Given the description of an element on the screen output the (x, y) to click on. 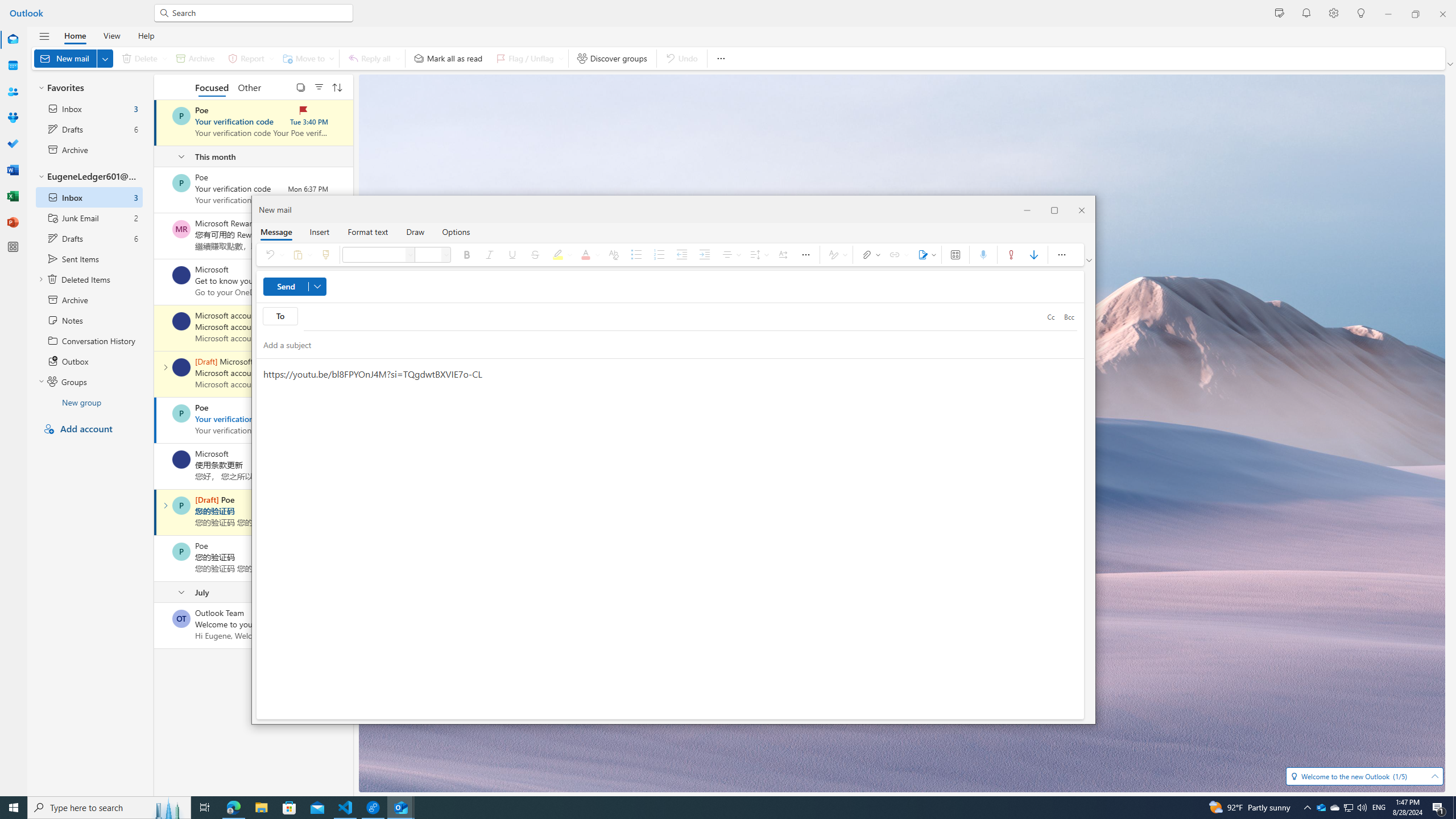
Expand to see flag options (561, 58)
Dictate (983, 254)
Undo (272, 254)
Styles (836, 254)
Mail (12, 39)
Reply all (372, 58)
More apps (12, 246)
Expand to see more report options (271, 58)
High importance (1011, 254)
System (6, 6)
Select a conversation (1333, 807)
Groups (180, 618)
Attach file (12, 117)
